Given the description of an element on the screen output the (x, y) to click on. 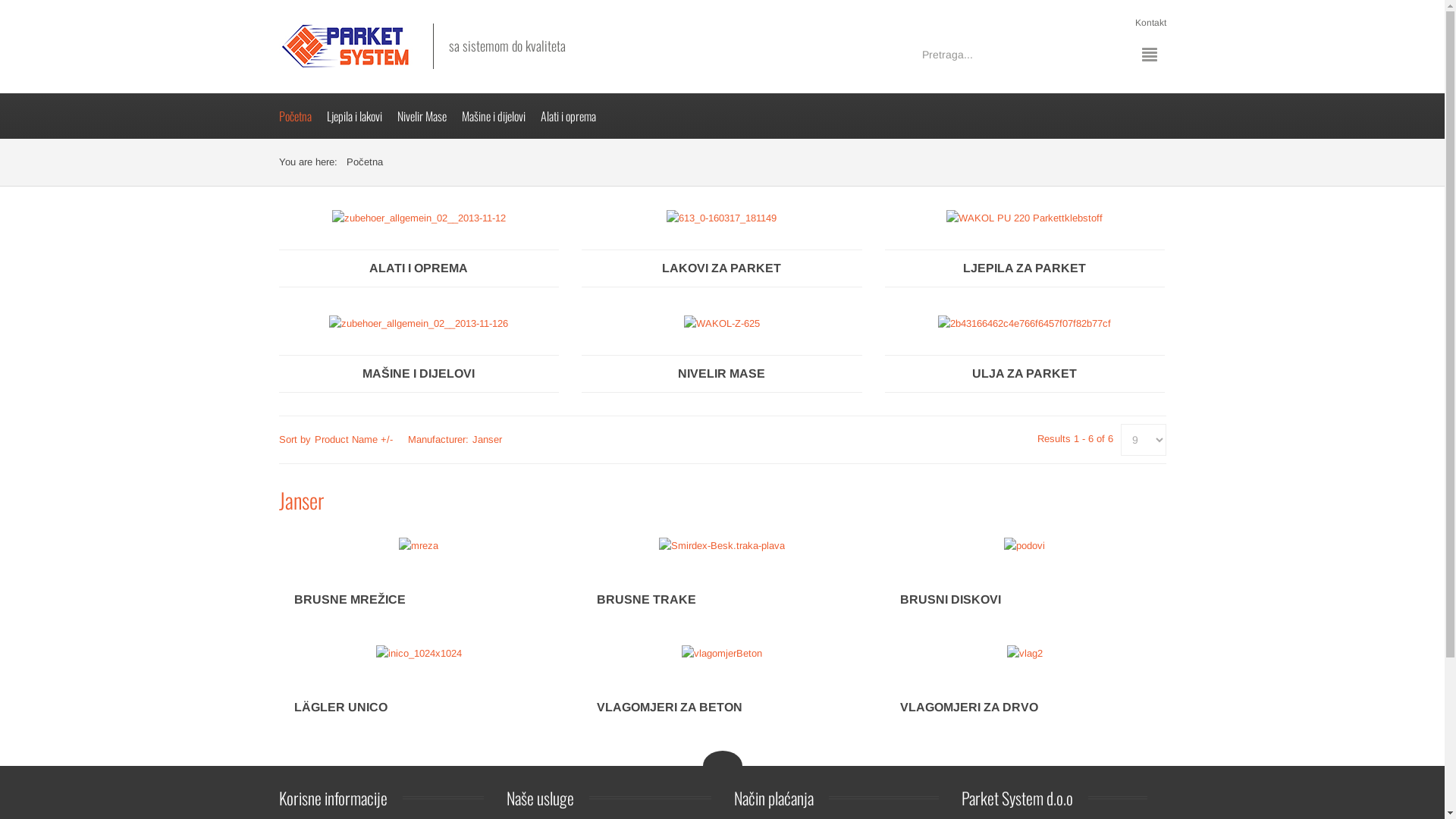
Nivelir Mase Element type: text (429, 115)
We have plenty of stock for this product Element type: hover (418, 580)
  Element type: text (721, 765)
LAKOVI ZA PARKET Element type: text (721, 268)
Vlagomjeri za drvo Element type: hover (1025, 653)
Vlagomjeri za beton Element type: hover (721, 653)
Lakovi za parket Element type: hover (721, 216)
We have plenty of stock for this product Element type: hover (1024, 580)
We have plenty of stock for this product Element type: hover (1024, 688)
We have plenty of stock for this product Element type: hover (418, 688)
NIVELIR MASE Element type: text (721, 373)
LJEPILA ZA PARKET Element type: text (1024, 268)
Search Element type: text (1099, 54)
Ljepila za parket Element type: hover (1024, 216)
ULJA ZA PARKET Element type: text (1024, 373)
VLAGOMJERI ZA DRVO Element type: text (969, 706)
Nivelir Mase Element type: hover (721, 323)
We are getting low on stock for this item Element type: hover (721, 688)
Brusne trake Element type: hover (721, 546)
Ljepila i lakovi Element type: text (361, 115)
Product Name +/- Element type: text (352, 439)
Alati i oprema Element type: hover (418, 216)
Ulja za parket Element type: hover (1024, 323)
We have plenty of stock for this product Element type: hover (721, 580)
BRUSNI DISKOVI Element type: text (950, 599)
BRUSNE TRAKE Element type: text (646, 599)
Kontakt Element type: text (1149, 22)
VLAGOMJERI ZA BETON Element type: text (669, 706)
ALATI I OPREMA Element type: text (419, 268)
Brusni diskovi Element type: hover (1025, 546)
Alati i oprema Element type: text (574, 115)
